Given the description of an element on the screen output the (x, y) to click on. 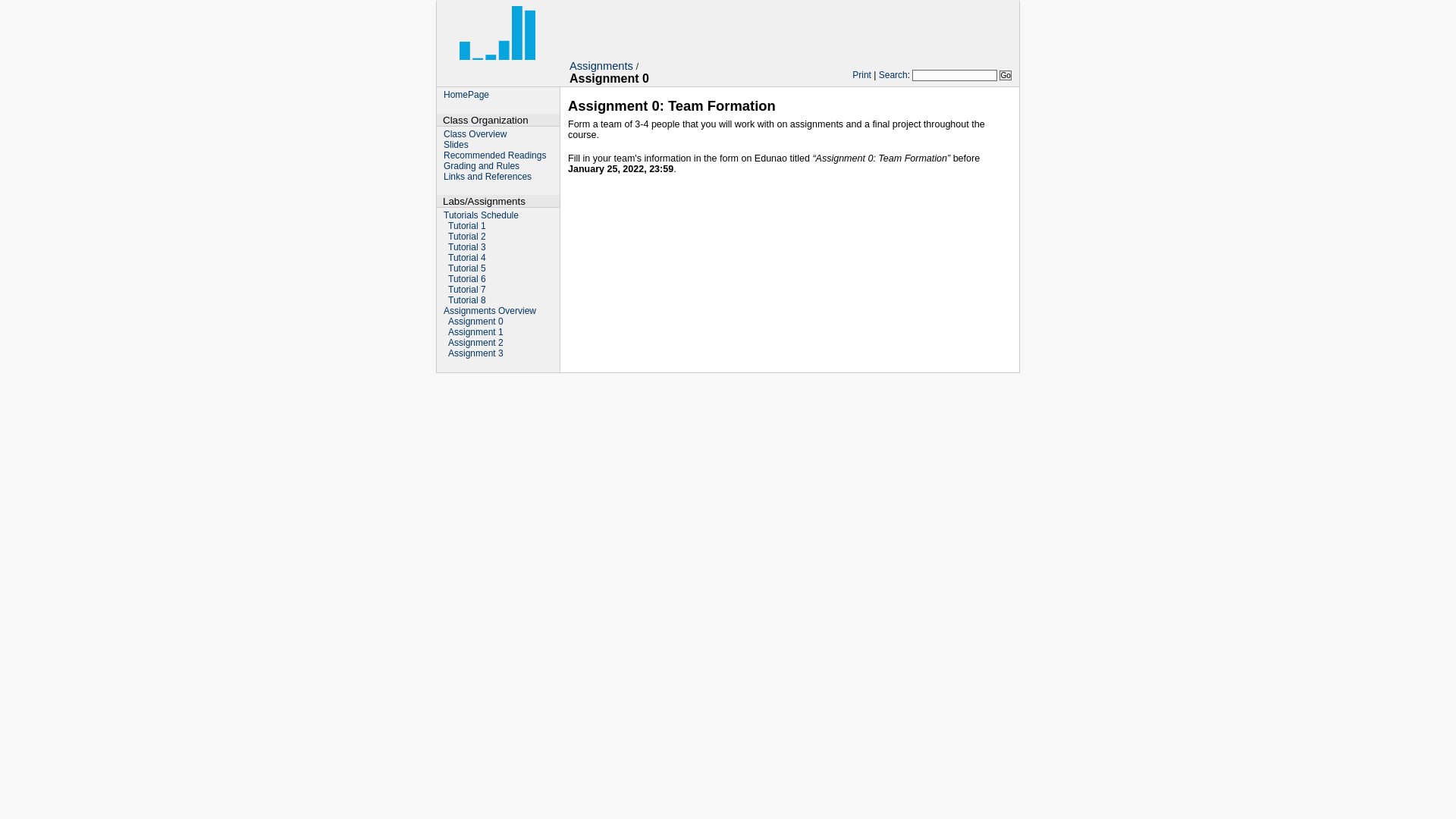
Print Element type: text (861, 74)
Tutorial 4 Element type: text (467, 257)
Tutorial 2 Element type: text (467, 236)
Assignment 3 Element type: text (475, 353)
Slides Element type: text (455, 144)
Assignment 1 Element type: text (475, 331)
PmWiki Element type: text (747, 389)
Page History Element type: text (989, 378)
Grading and Rules Element type: text (481, 165)
Recent Changes Element type: text (473, 378)
Edit Page Element type: text (936, 378)
Tutorials Schedule Element type: text (480, 215)
Tutorial 5 Element type: text (467, 268)
Tutorial 8 Element type: text (467, 299)
Visualization Home Element type: hover (497, 44)
Tutorial 1 Element type: text (467, 225)
Assignments Element type: text (601, 65)
Tutorial 6 Element type: text (467, 278)
HomePage Element type: text (466, 94)
Assignments Overview Element type: text (489, 310)
Tutorial 3 Element type: text (467, 246)
Class Overview Element type: text (474, 133)
Search Element type: text (892, 74)
Tutorial 7 Element type: text (467, 289)
Assignment 0 Element type: text (475, 321)
Recommended Readings Element type: text (494, 155)
Go Element type: text (1005, 75)
Assignment 2 Element type: text (475, 342)
(All) Element type: text (518, 378)
Links and References Element type: text (487, 176)
